Given the description of an element on the screen output the (x, y) to click on. 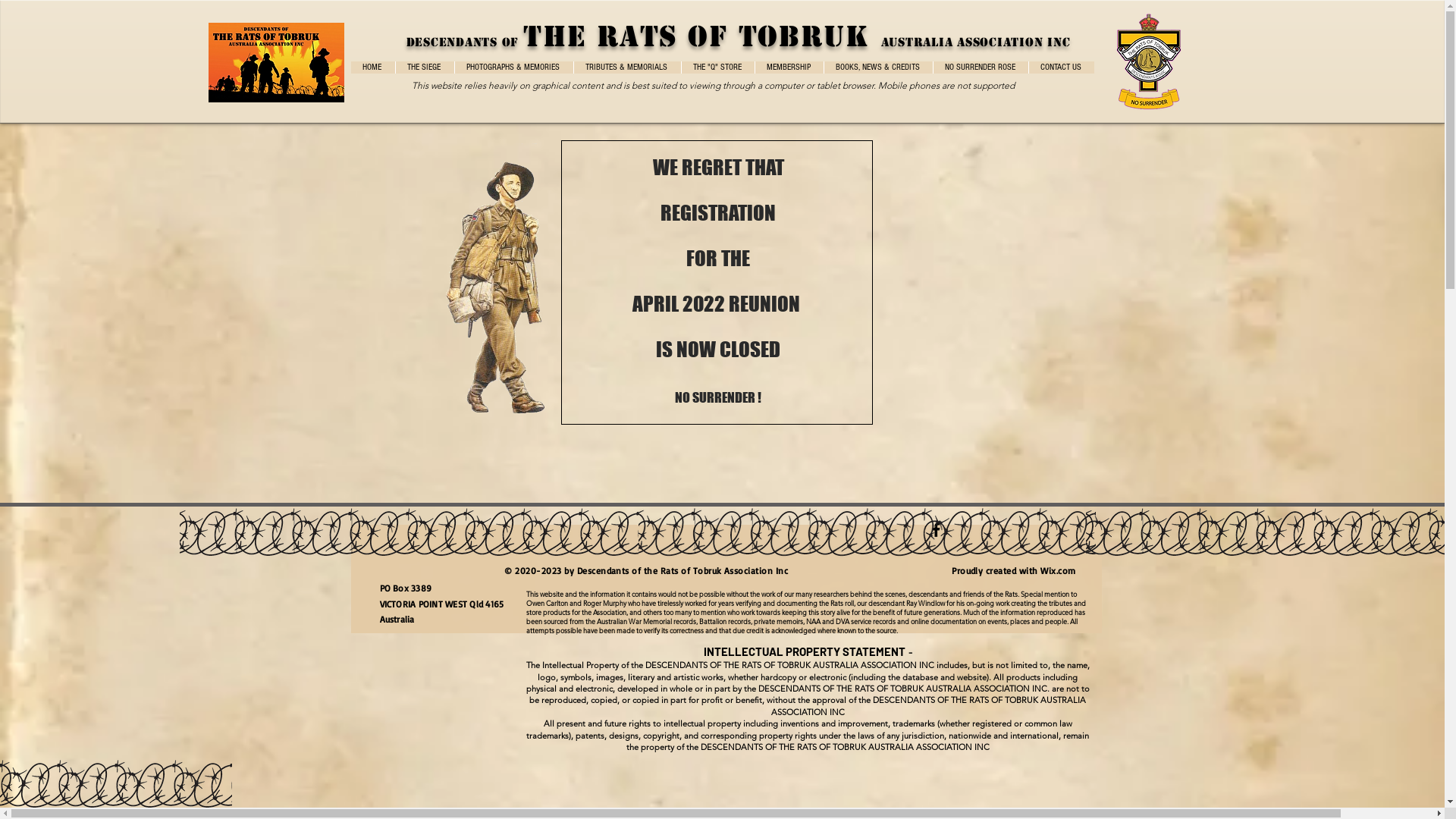
NO SURRENDER ROSE Element type: text (980, 67)
HOME Element type: text (372, 67)
THE "Q" STORE Element type: text (717, 67)
Wix.com   Element type: text (1060, 570)
CONTACT US Element type: text (1061, 67)
